Given the description of an element on the screen output the (x, y) to click on. 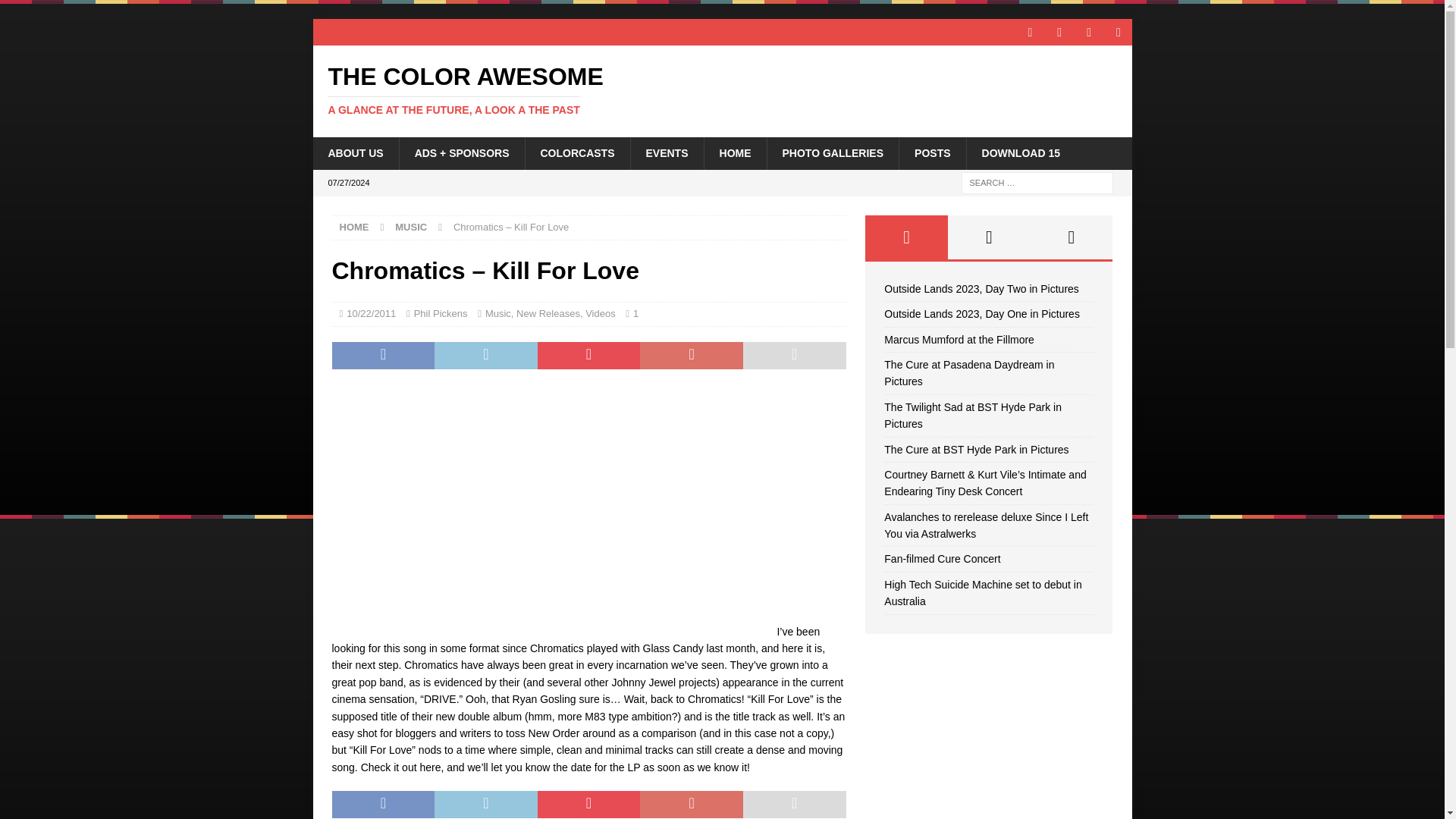
ABOUT US (355, 152)
Music (497, 313)
Phil Pickens (440, 313)
DOWNLOAD 15 (1020, 152)
POSTS (931, 152)
HOME (735, 152)
New Releases (547, 313)
EVENTS (665, 152)
The Color Awesome (721, 90)
COLORCASTS (577, 152)
MUSIC (410, 226)
PHOTO GALLERIES (721, 90)
Search (833, 152)
HOME (56, 11)
